Given the description of an element on the screen output the (x, y) to click on. 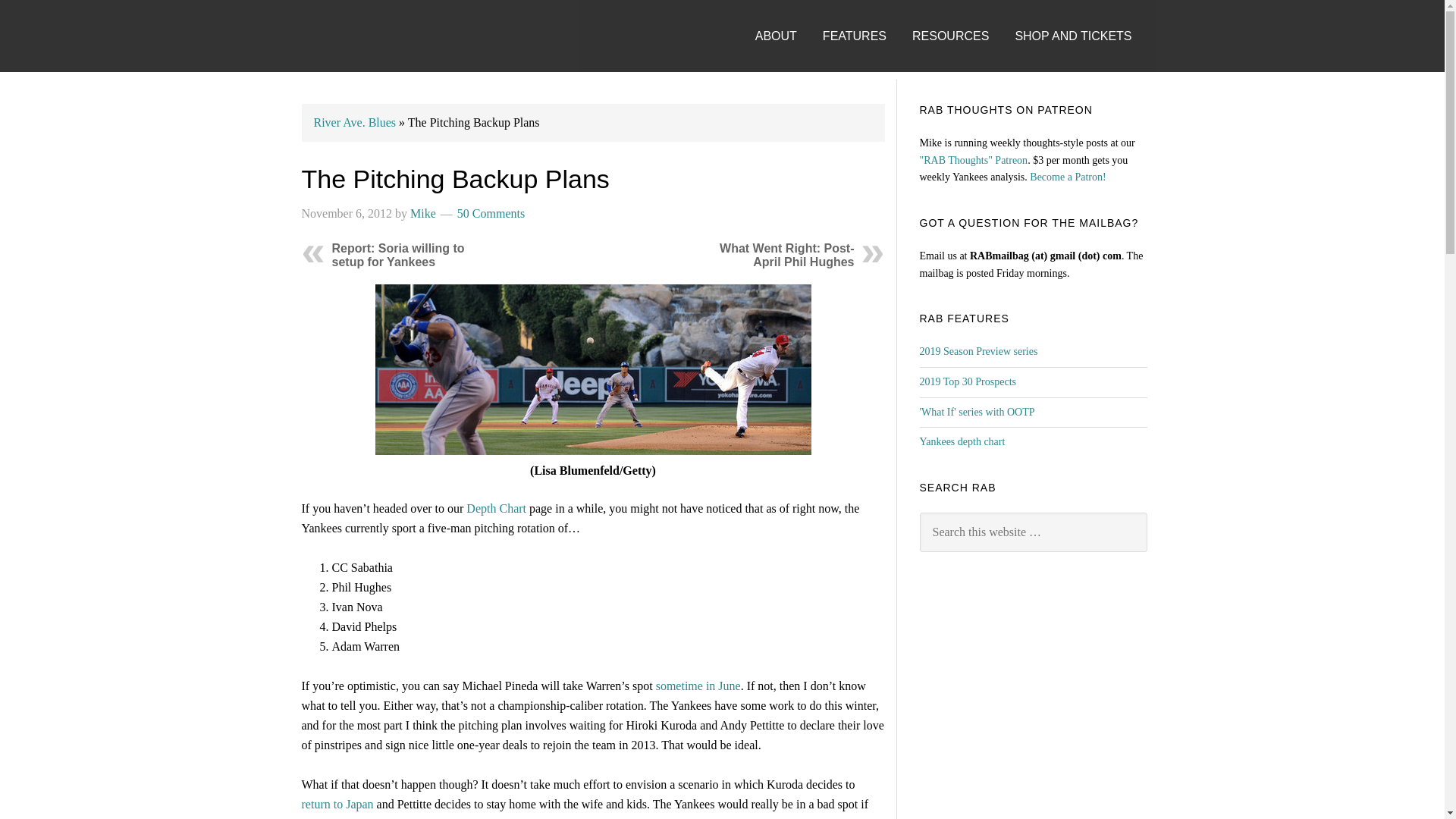
Report: Soria willing to setup for Yankees (397, 254)
50 Comments (490, 213)
return to Japan (337, 803)
Depth Chart (495, 508)
FEATURES (865, 21)
RESOURCES (961, 21)
What Went Right: Post-April Phil Hughes (786, 254)
SHOP AND TICKETS (1084, 21)
sometime in June (698, 685)
RIVER AVENUE BLUES (334, 36)
Mike (422, 213)
River Ave. Blues (355, 122)
ABOUT (787, 21)
this free agent class (690, 818)
